Given the description of an element on the screen output the (x, y) to click on. 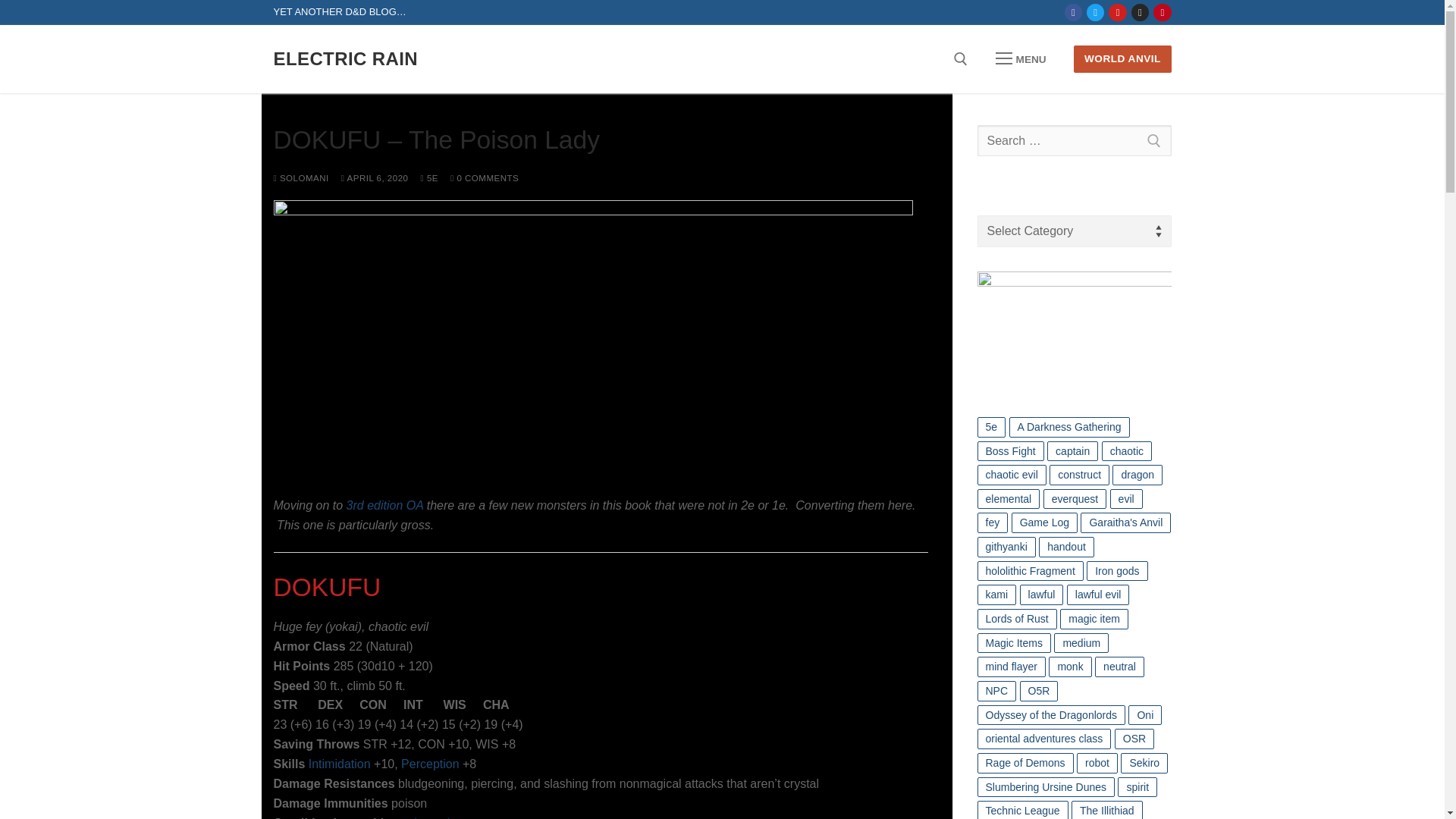
Twitter (1095, 12)
Pinterest (1162, 12)
APRIL 6, 2020 (374, 177)
ELECTRIC RAIN (345, 58)
Intimidation (339, 763)
5E (429, 177)
SOLOMANI (301, 177)
Facebook (1073, 12)
MENU (1020, 59)
WORLD ANVIL (1122, 59)
Instagram (1139, 12)
0 COMMENTS (483, 177)
3rd edition OA (384, 504)
Youtube (1117, 12)
Perception (430, 763)
